Given the description of an element on the screen output the (x, y) to click on. 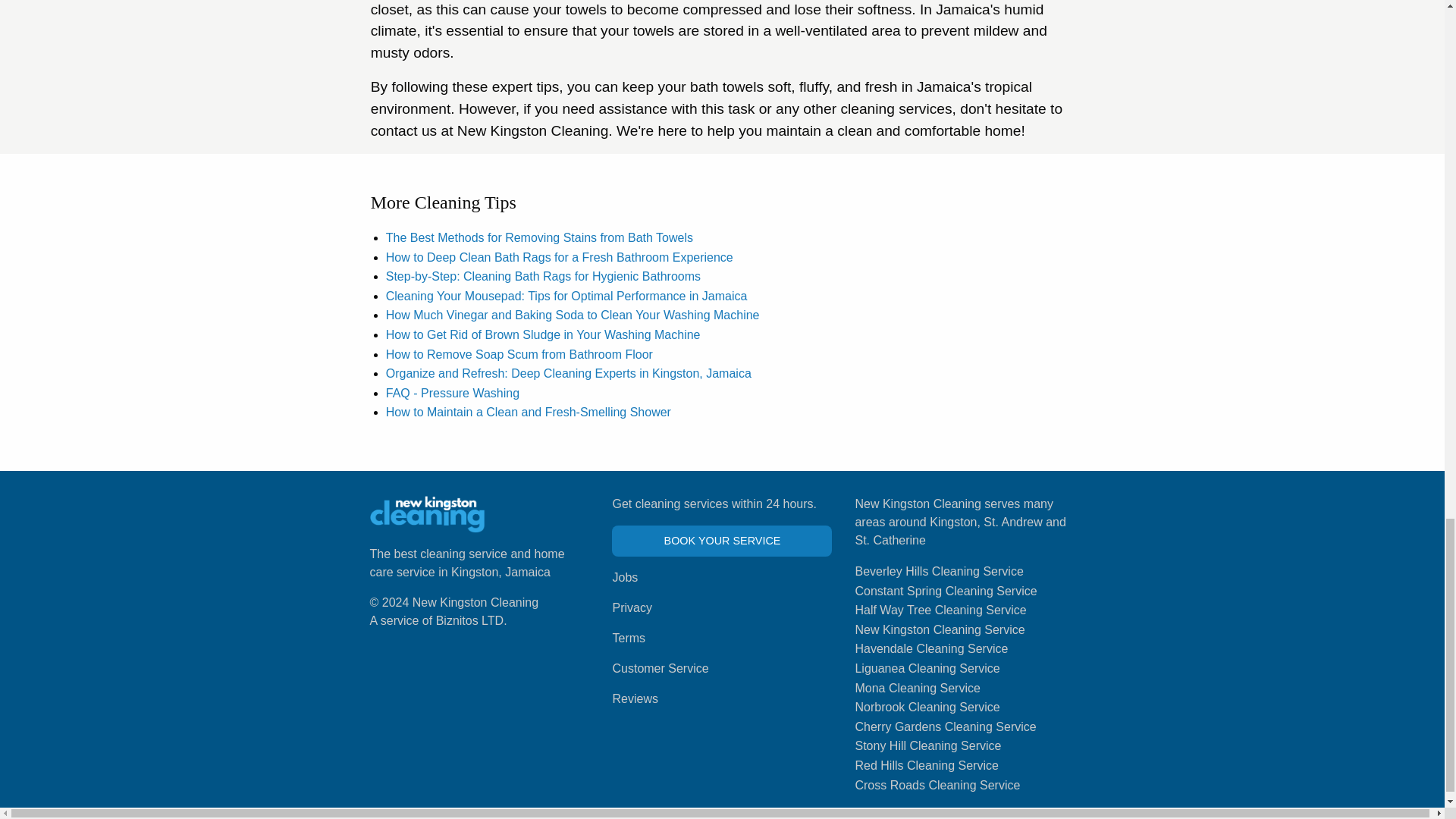
Reviews (634, 698)
BOOK YOUR SERVICE (721, 540)
Terms (628, 637)
The Best Methods for Removing Stains from Bath Towels (539, 237)
FAQ - Pressure Washing (452, 392)
How to Get Rid of Brown Sludge in Your Washing Machine (542, 334)
FAQ - Pressure Washing (452, 392)
